Given the description of an element on the screen output the (x, y) to click on. 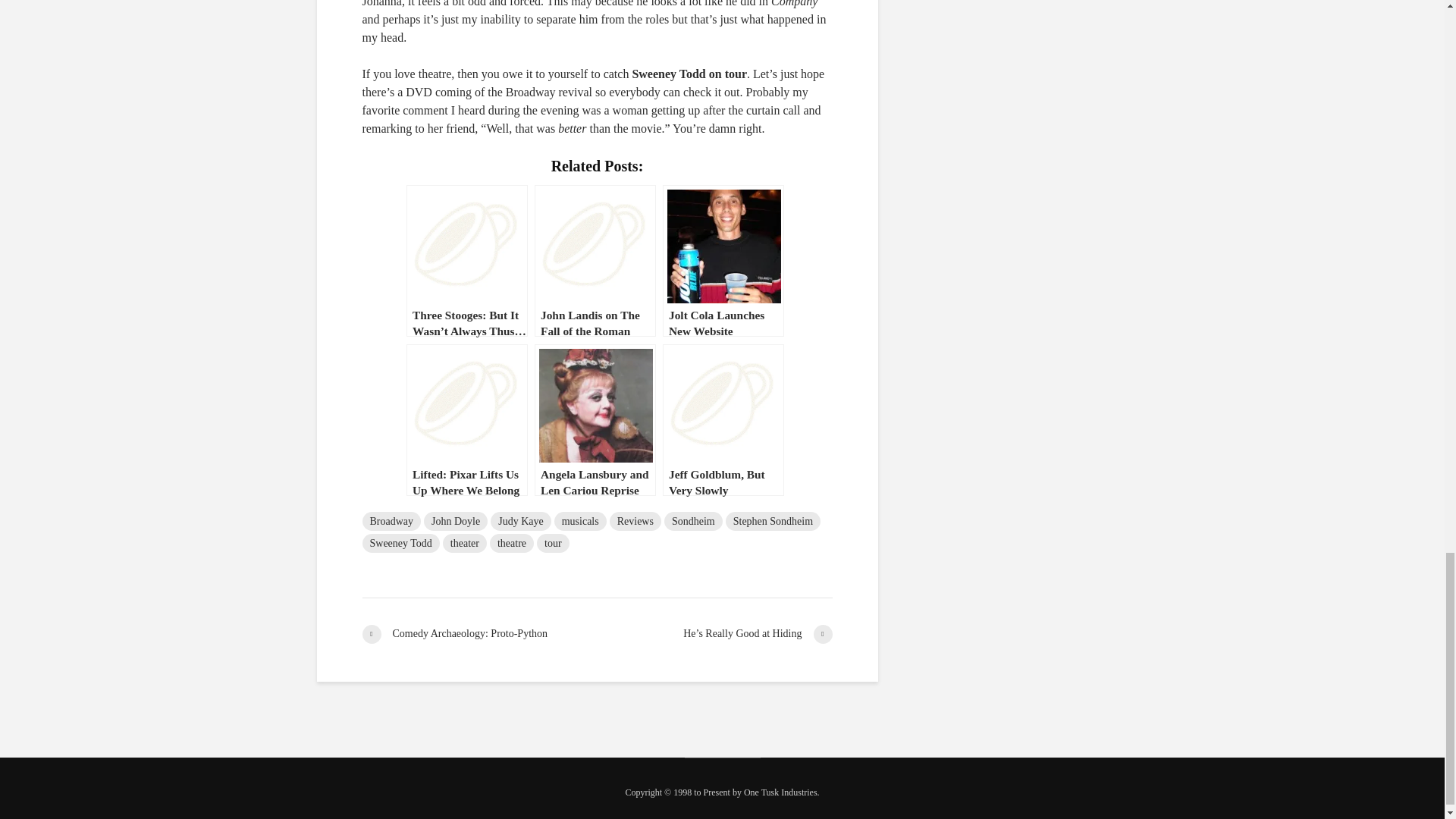
musicals (580, 520)
Broadway (392, 520)
Reviews (635, 520)
Stephen Sondheim (773, 520)
Judy Kaye (520, 520)
John Doyle (455, 520)
Sondheim (692, 520)
